Given the description of an element on the screen output the (x, y) to click on. 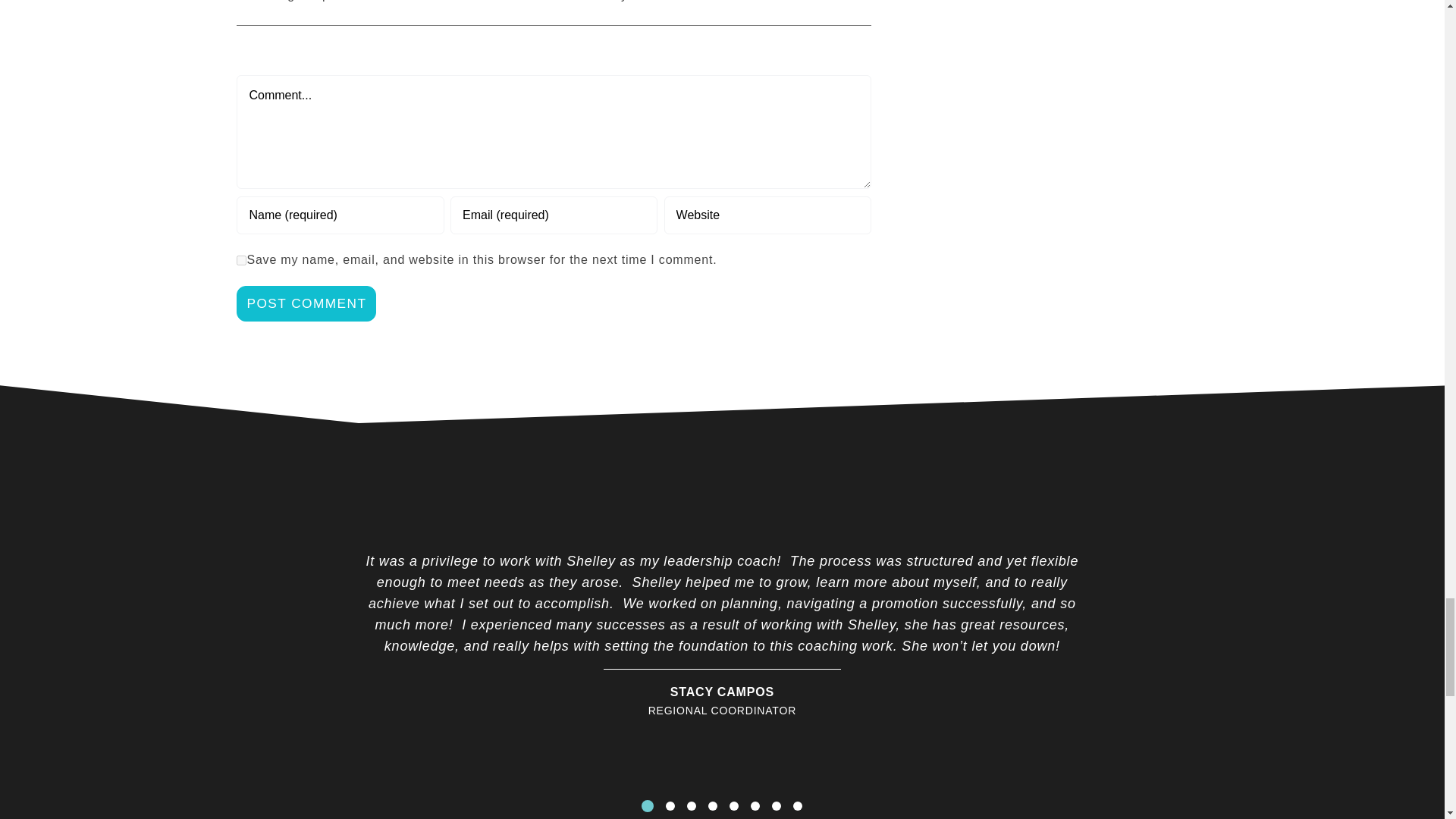
Post Comment (305, 303)
Post Comment (305, 303)
yes (240, 260)
